Given the description of an element on the screen output the (x, y) to click on. 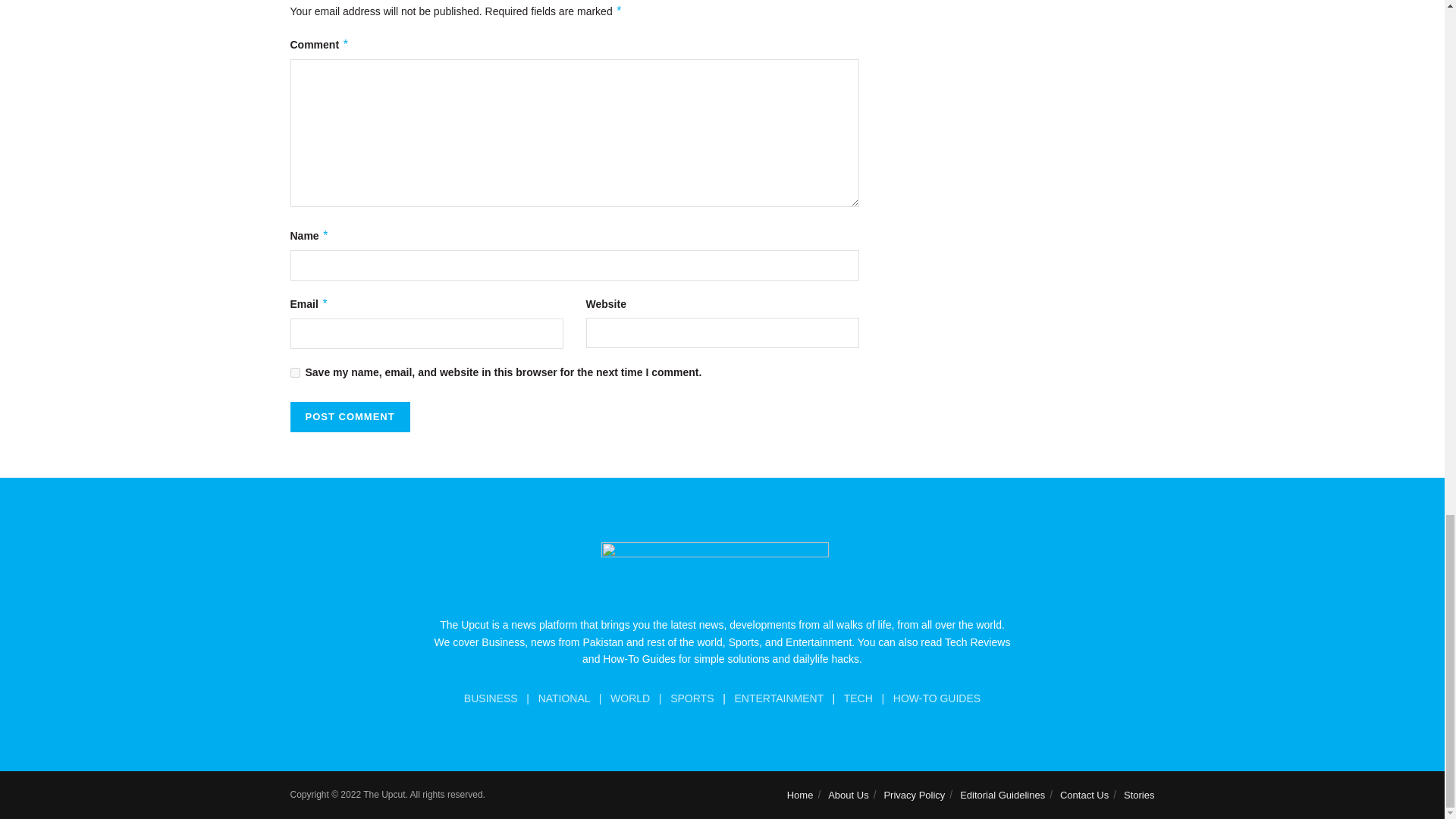
Post Comment (349, 417)
yes (294, 372)
